Given the description of an element on the screen output the (x, y) to click on. 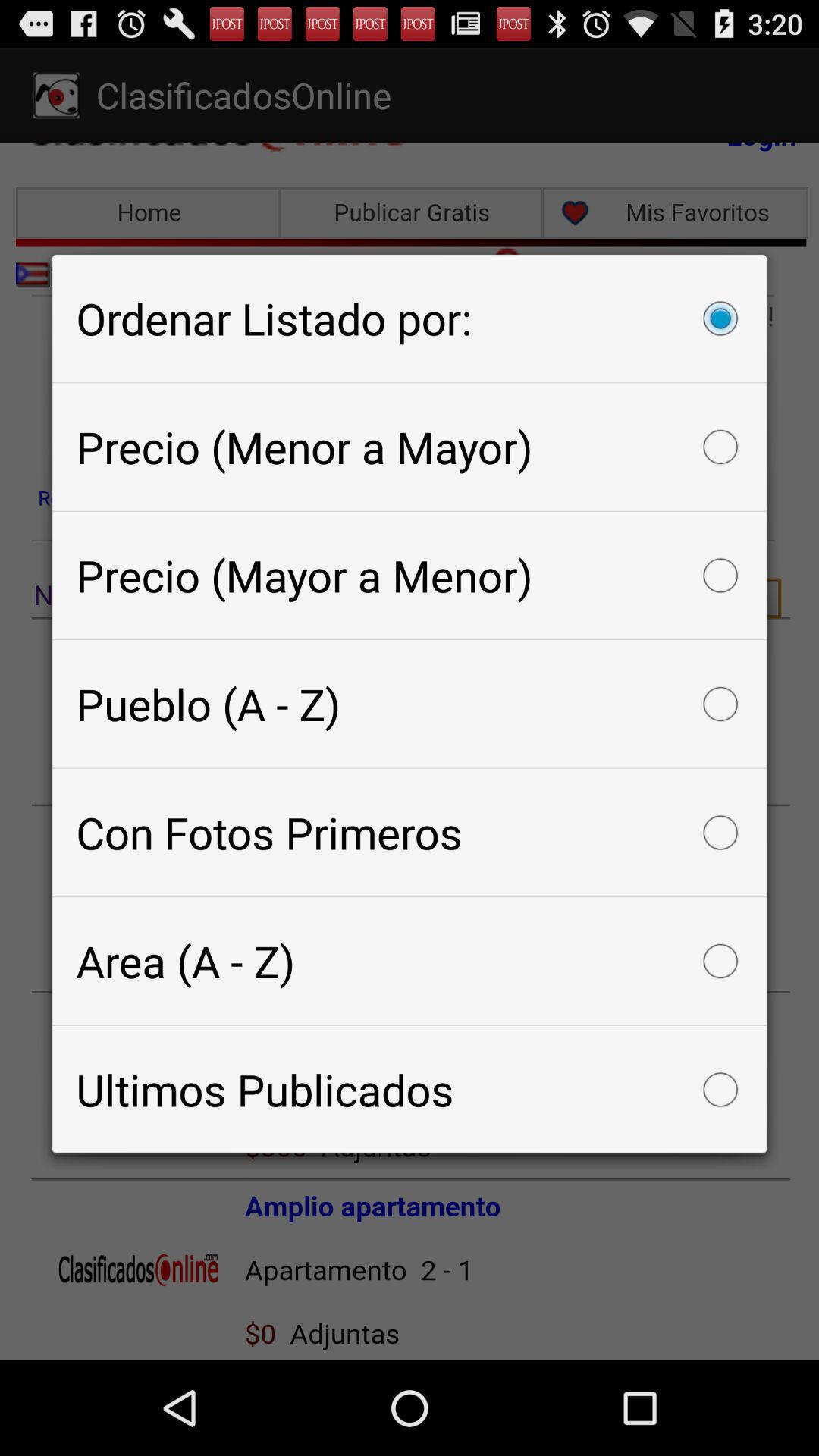
launch the con fotos primeros icon (409, 832)
